Given the description of an element on the screen output the (x, y) to click on. 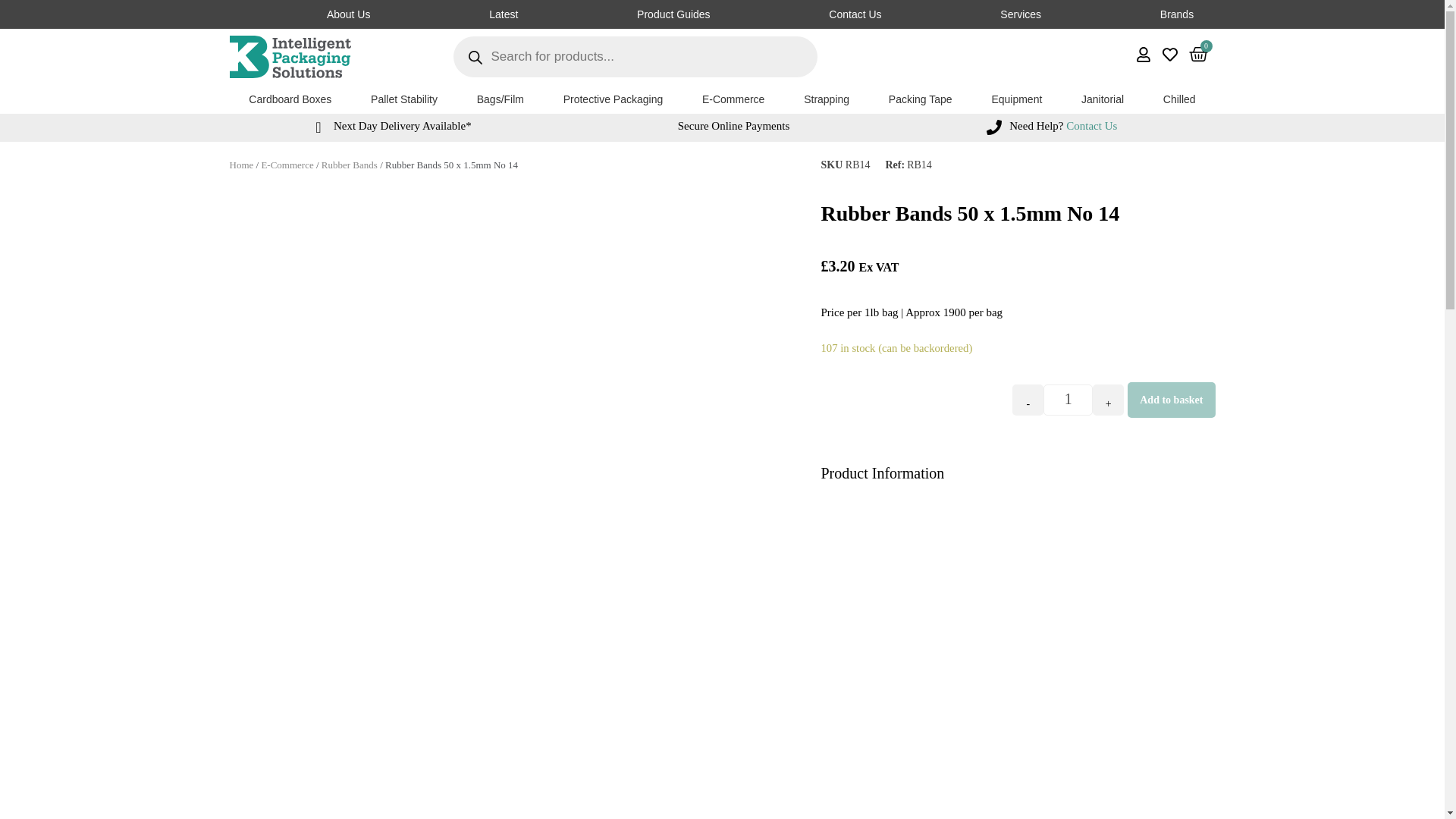
About Us (347, 14)
Brands (1176, 14)
Services (1020, 14)
Cardboard Boxes (289, 99)
1 (1068, 399)
Latest (503, 14)
Qty (1068, 399)
Product Guides (674, 14)
Contact Us (759, 14)
